Given the description of an element on the screen output the (x, y) to click on. 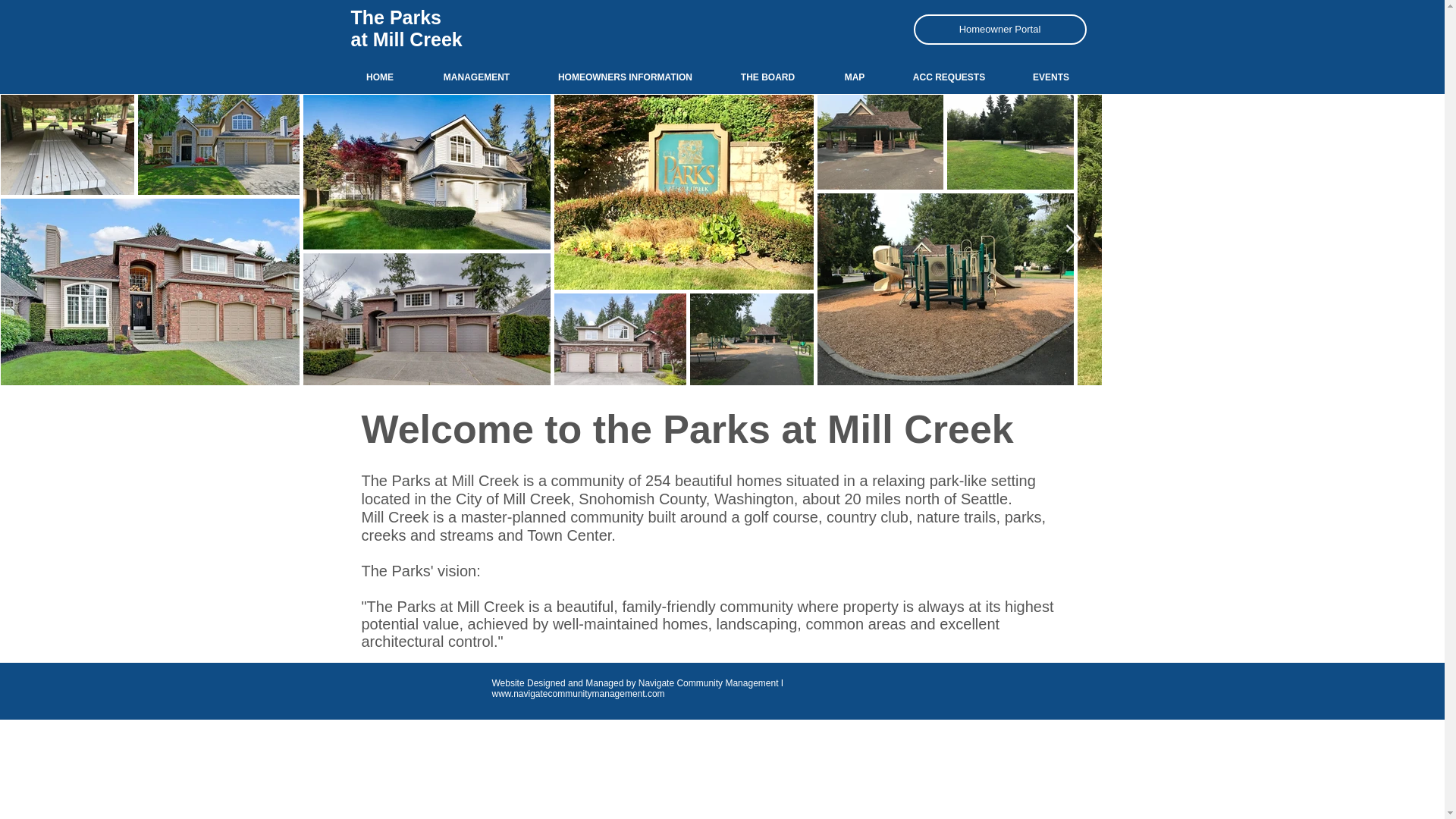
MAP (853, 77)
EVENTS (1051, 77)
Homeowner Portal (999, 29)
THE BOARD (767, 77)
MANAGEMENT (476, 77)
www.navigatecommunitymanagement.com (577, 693)
ACC REQUESTS (949, 77)
HOMEOWNERS INFORMATION (625, 77)
HOME (379, 77)
